Given the description of an element on the screen output the (x, y) to click on. 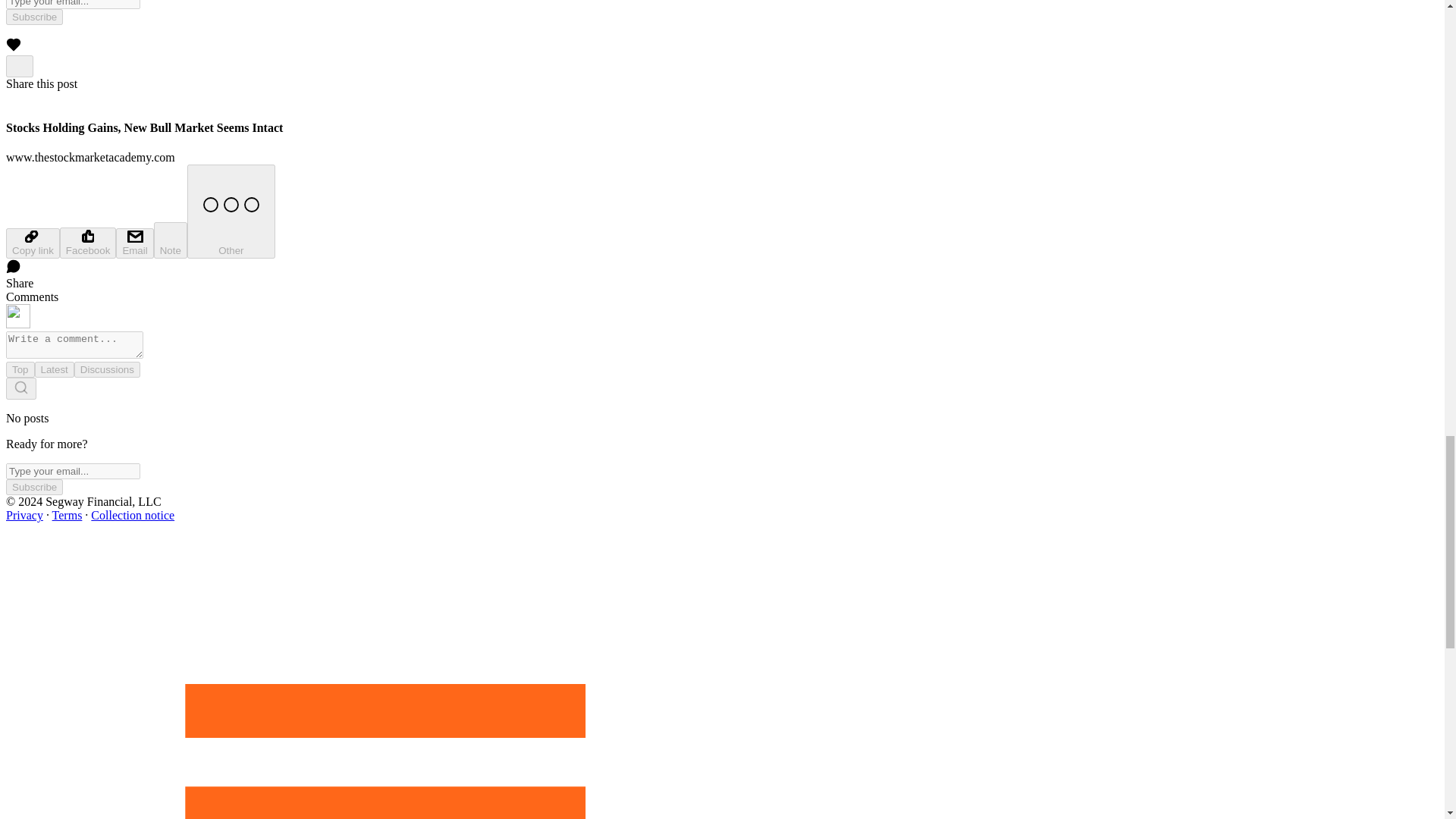
Privacy (24, 514)
Note (170, 239)
Top (19, 369)
Facebook (87, 242)
Latest (54, 369)
Subscribe (33, 487)
Email (134, 243)
Terms (67, 514)
Other (231, 211)
Discussions (106, 369)
Subscribe (33, 17)
Copy link (32, 243)
